Given the description of an element on the screen output the (x, y) to click on. 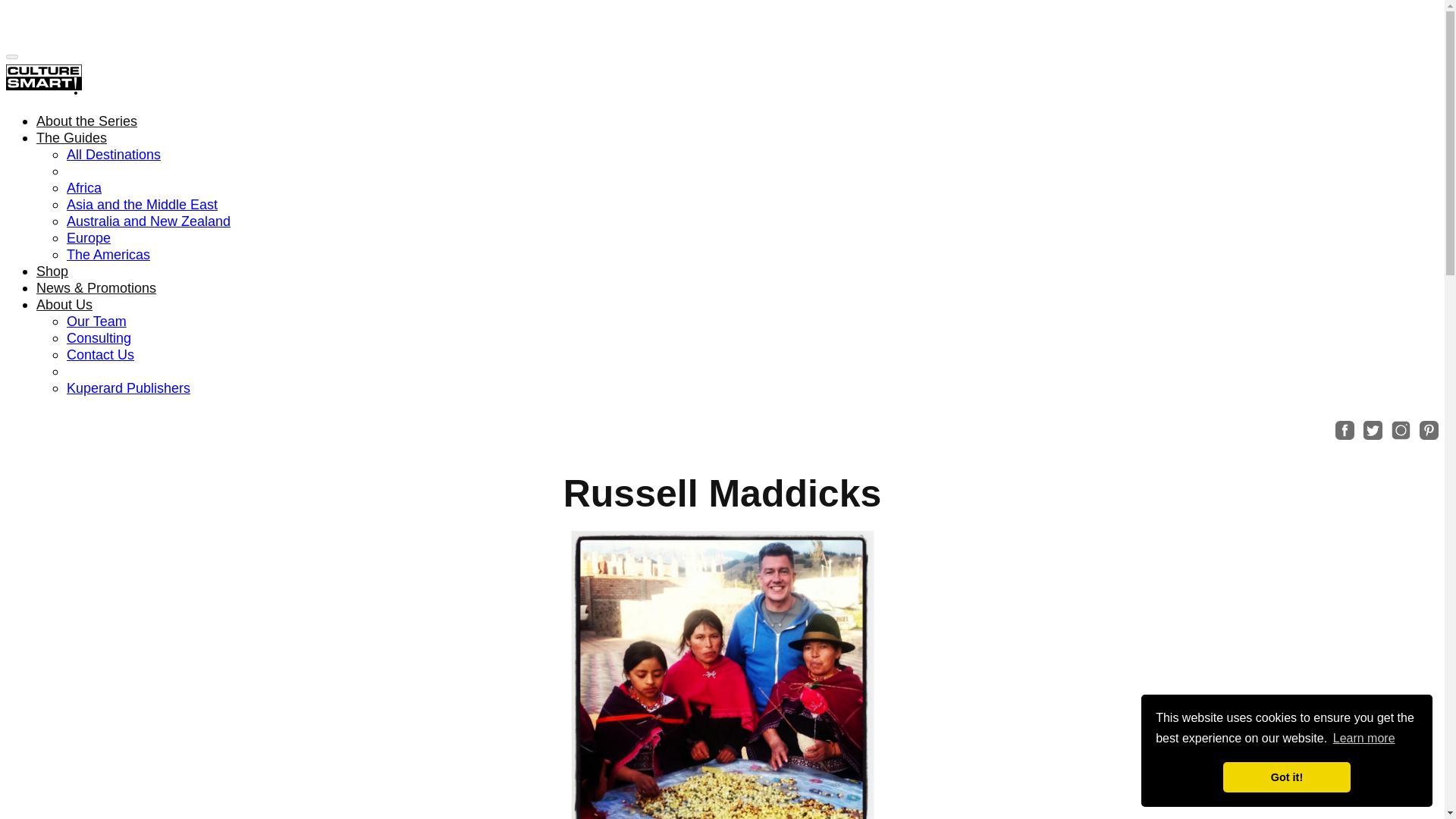
follow us on facebook (1344, 429)
About the Series (86, 120)
Europe (88, 237)
Shop (52, 271)
Consulting (98, 337)
Got it! (1286, 777)
The Guides (73, 137)
Africa (83, 187)
Asia and the Middle East (141, 204)
Contact Us (99, 354)
Australia and New Zealand (148, 221)
Learn more (1363, 738)
Our Team (96, 321)
About Us (66, 304)
All Destinations (113, 154)
